Given the description of an element on the screen output the (x, y) to click on. 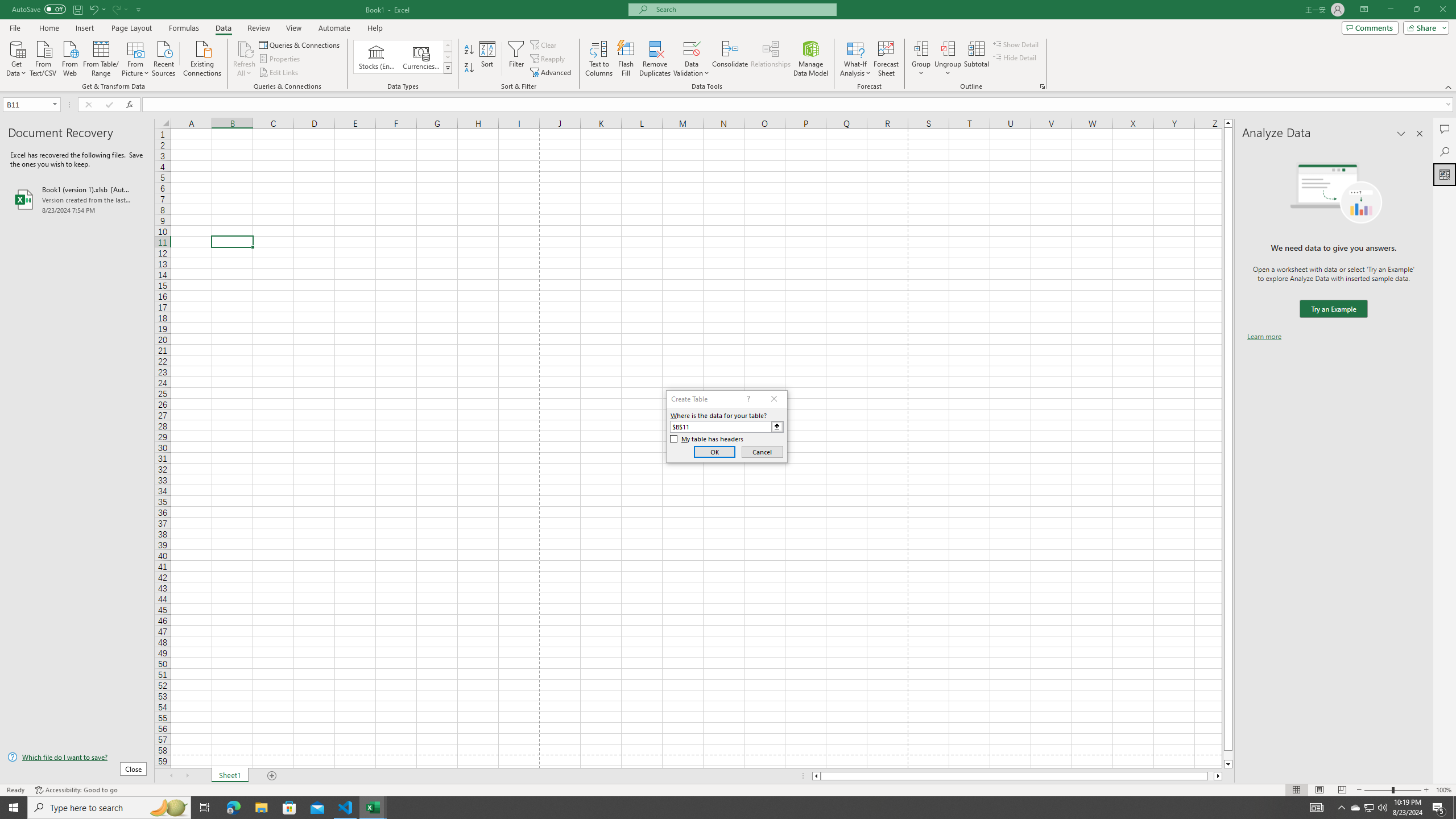
Consolidate... (729, 58)
